Given the description of an element on the screen output the (x, y) to click on. 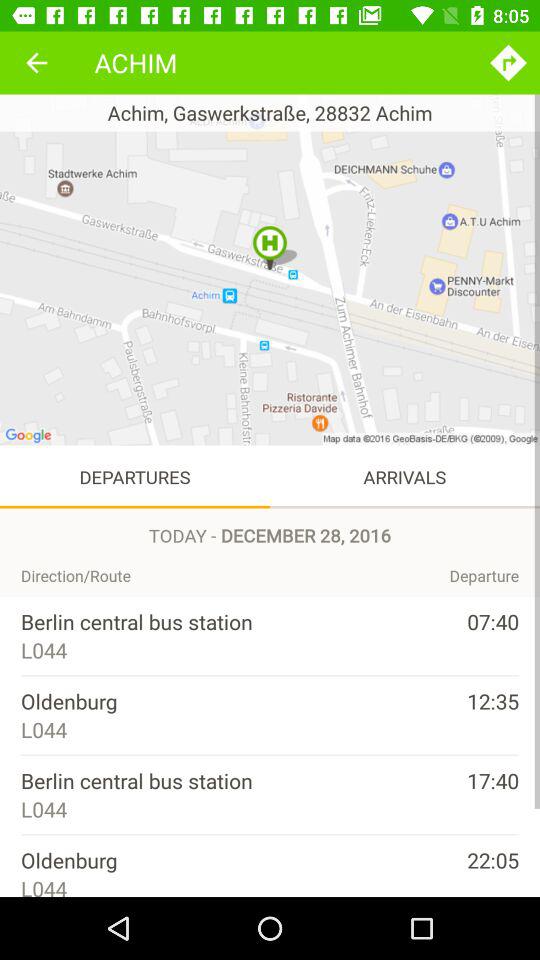
open icon to the left of the achim item (36, 62)
